Given the description of an element on the screen output the (x, y) to click on. 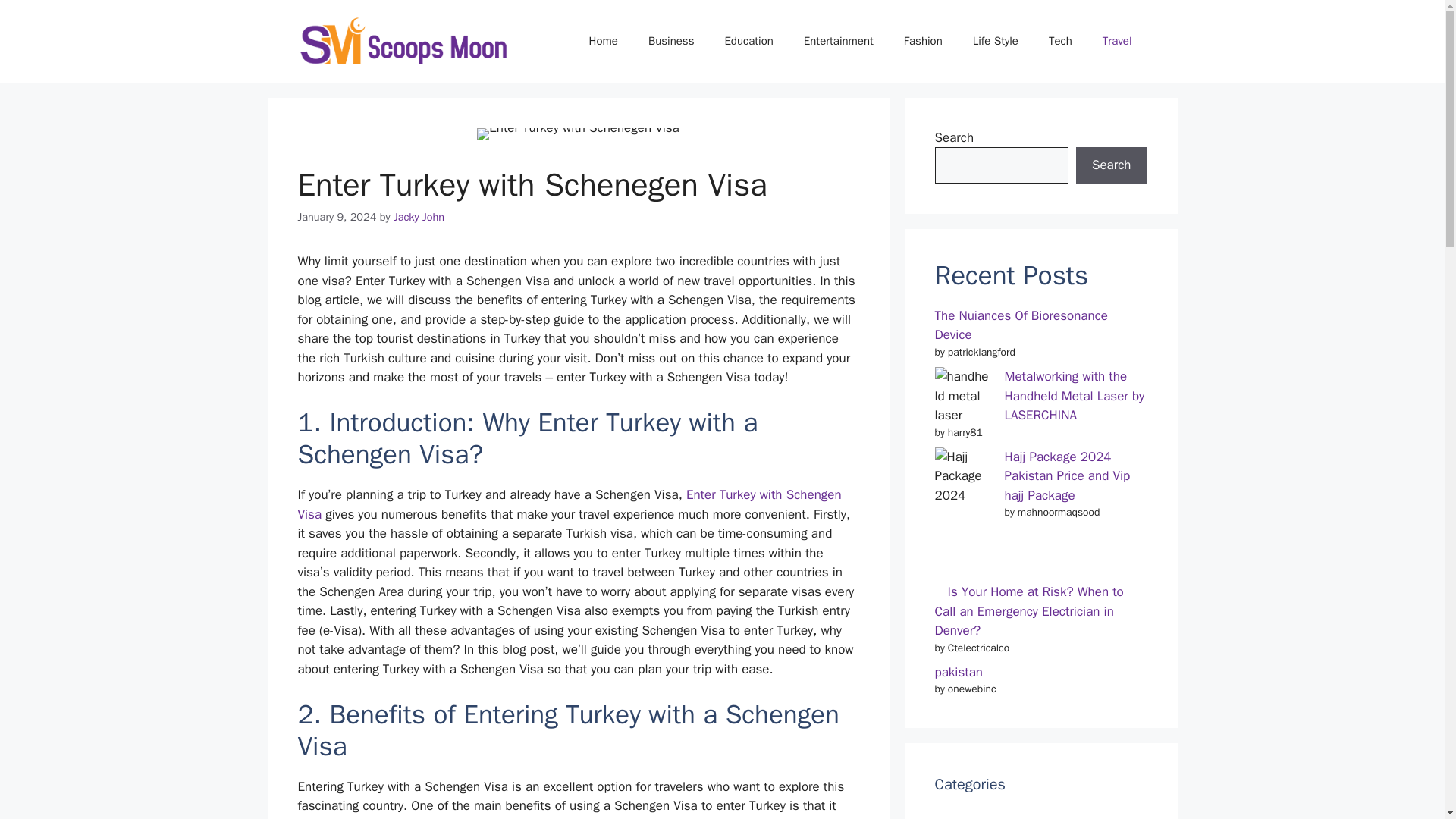
Home (603, 40)
Tech (1060, 40)
View all posts by Jacky John (418, 216)
The Nuiances Of Bioresonance Device (1021, 325)
Hajj Package 2024 Pakistan Price and Vip hajj Package (1066, 475)
Search (1111, 165)
Education (748, 40)
Fashion (923, 40)
Metalworking with the Handheld Metal Laser by LASERCHINA (1074, 395)
